Given the description of an element on the screen output the (x, y) to click on. 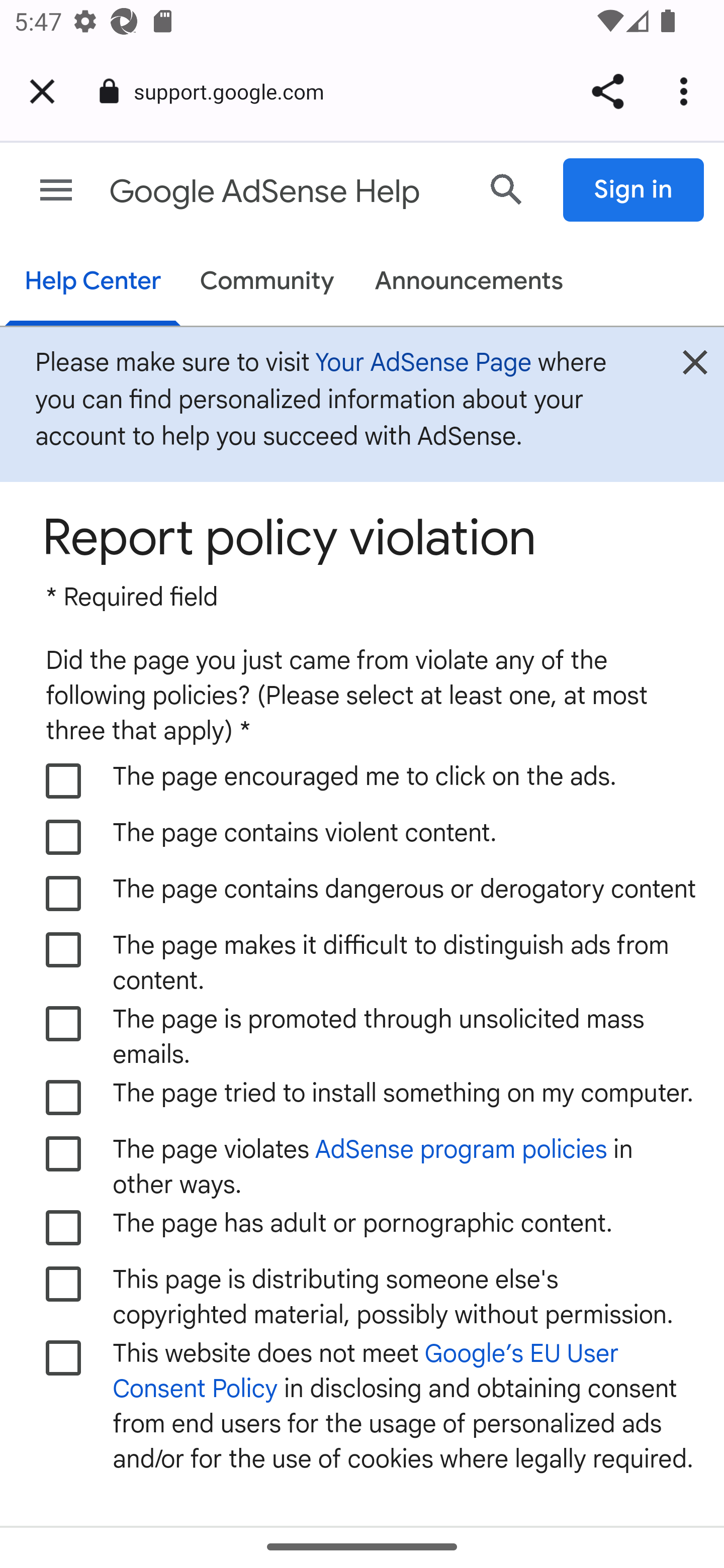
Close tab (42, 91)
Share (607, 91)
More options (687, 91)
Connection is secure (108, 91)
support.google.com (235, 90)
Main menu (56, 190)
Google AdSense Help (285, 191)
Search Help Center (506, 189)
Sign in (634, 190)
Help Center (92, 283)
Community (267, 281)
Announcements (468, 281)
Close (694, 367)
Your AdSense Page (422, 362)
The page encouraged me to click on the ads. (63, 781)
The page contains violent content. (63, 838)
The page contains dangerous or derogatory content (63, 894)
The page has adult or pornographic content. (63, 1227)
